Given the description of an element on the screen output the (x, y) to click on. 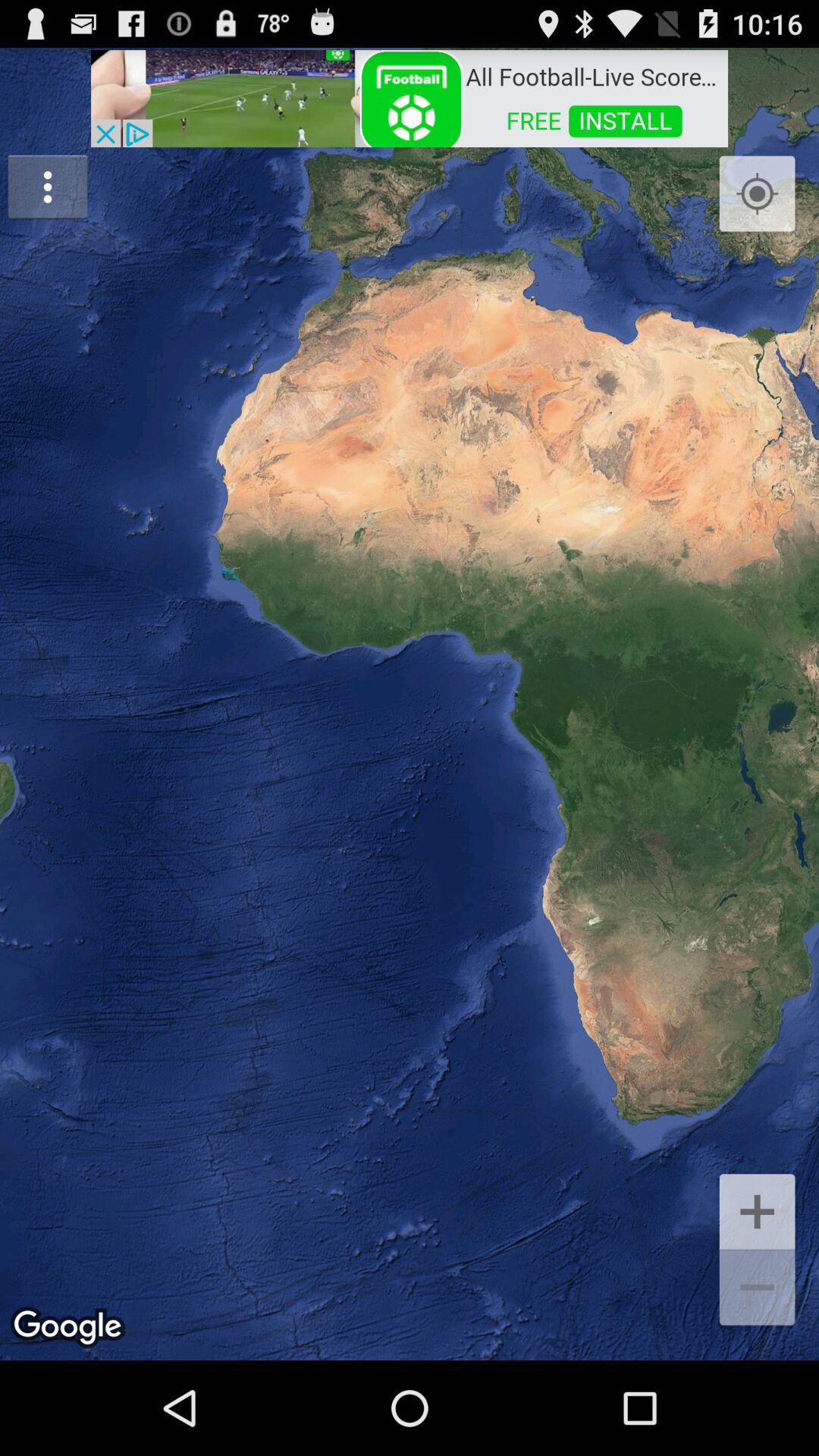
open item at the center (409, 703)
